Given the description of an element on the screen output the (x, y) to click on. 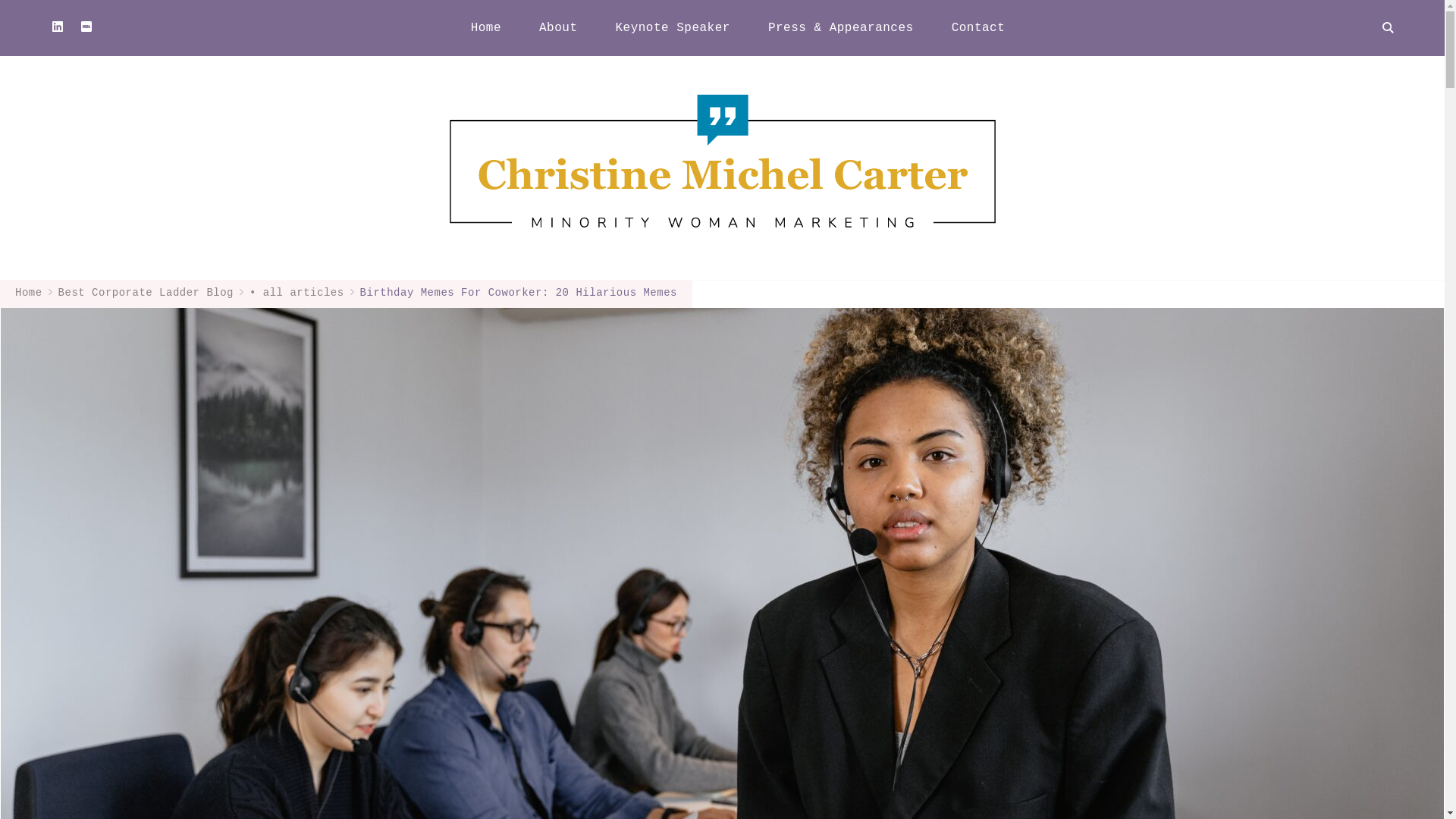
Home (28, 292)
Contact (979, 27)
Keynote Speaker (671, 27)
Best Corporate Ladder Blog (145, 292)
Christine Michel Carter (1182, 98)
Home (485, 27)
About (557, 27)
